Given the description of an element on the screen output the (x, y) to click on. 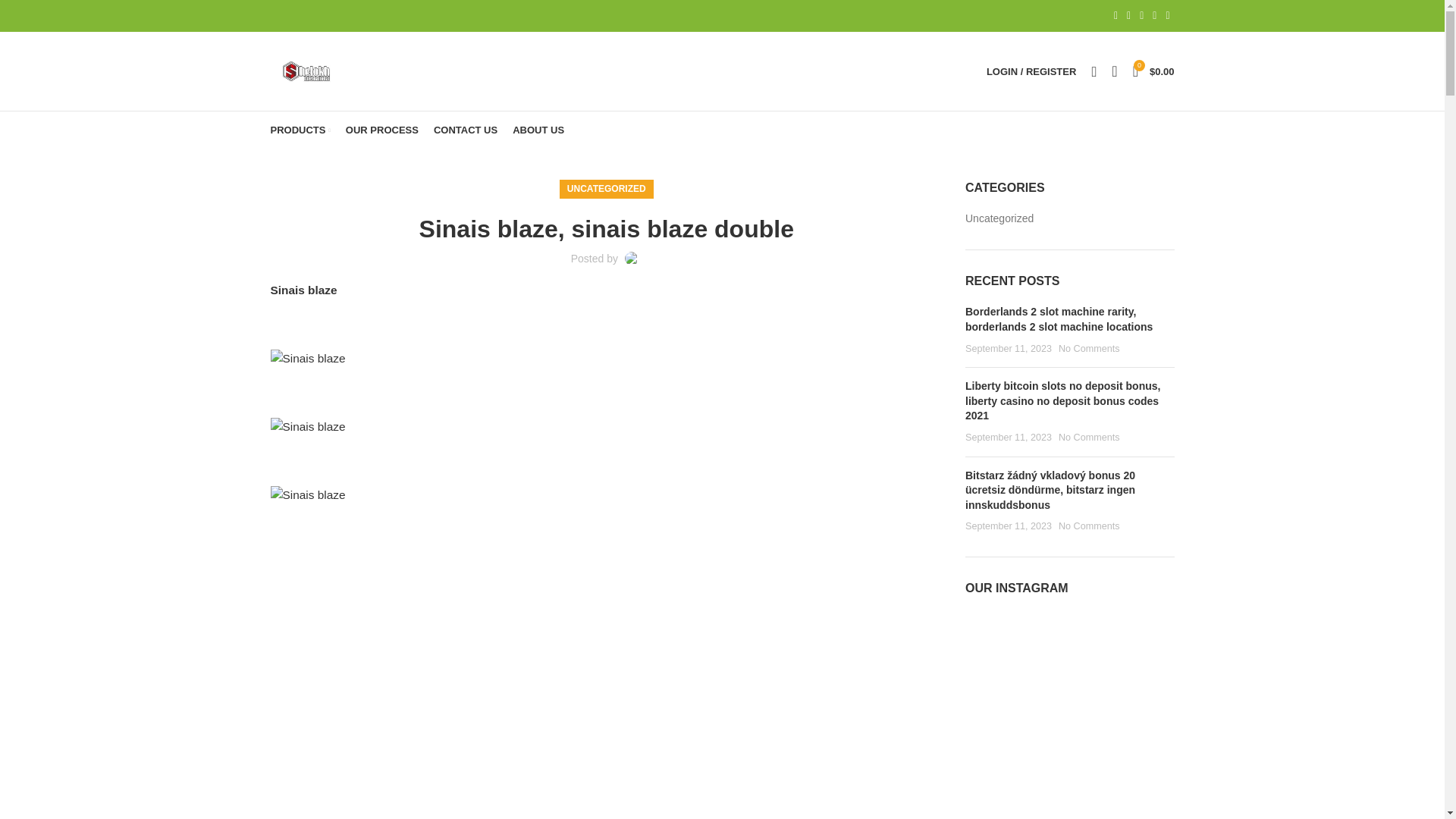
Sinais blaze (307, 495)
My account (1030, 71)
Shopping cart (1153, 71)
PRODUCTS (299, 130)
Sinais blaze (307, 358)
Log in (950, 309)
Sinais blaze (307, 426)
